Given the description of an element on the screen output the (x, y) to click on. 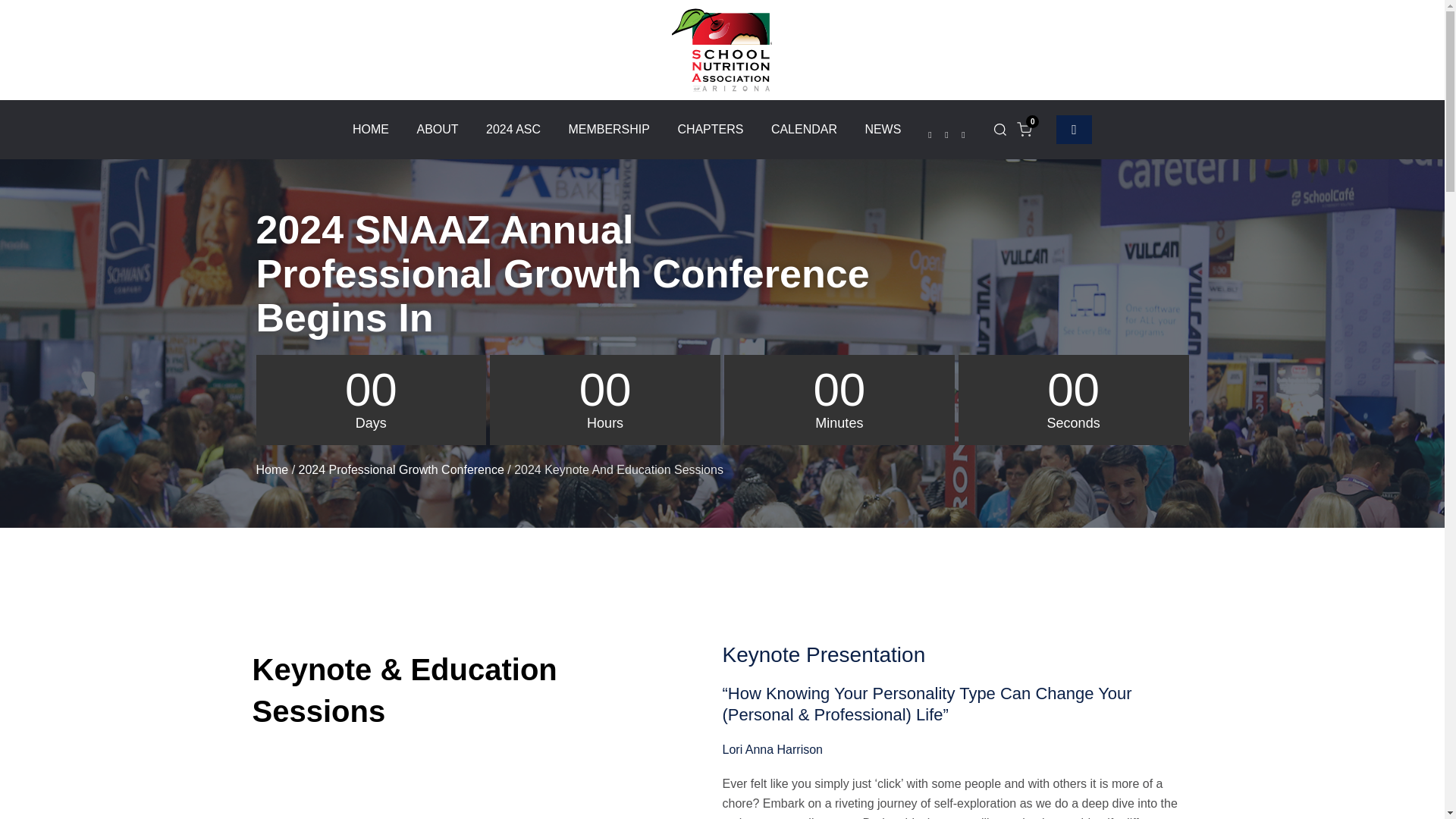
2024 ASC (513, 128)
HOME (370, 128)
snaaz logo 80 x 68-01 (721, 49)
MEMBERSHIP (608, 128)
ABOUT (437, 128)
